Given the description of an element on the screen output the (x, y) to click on. 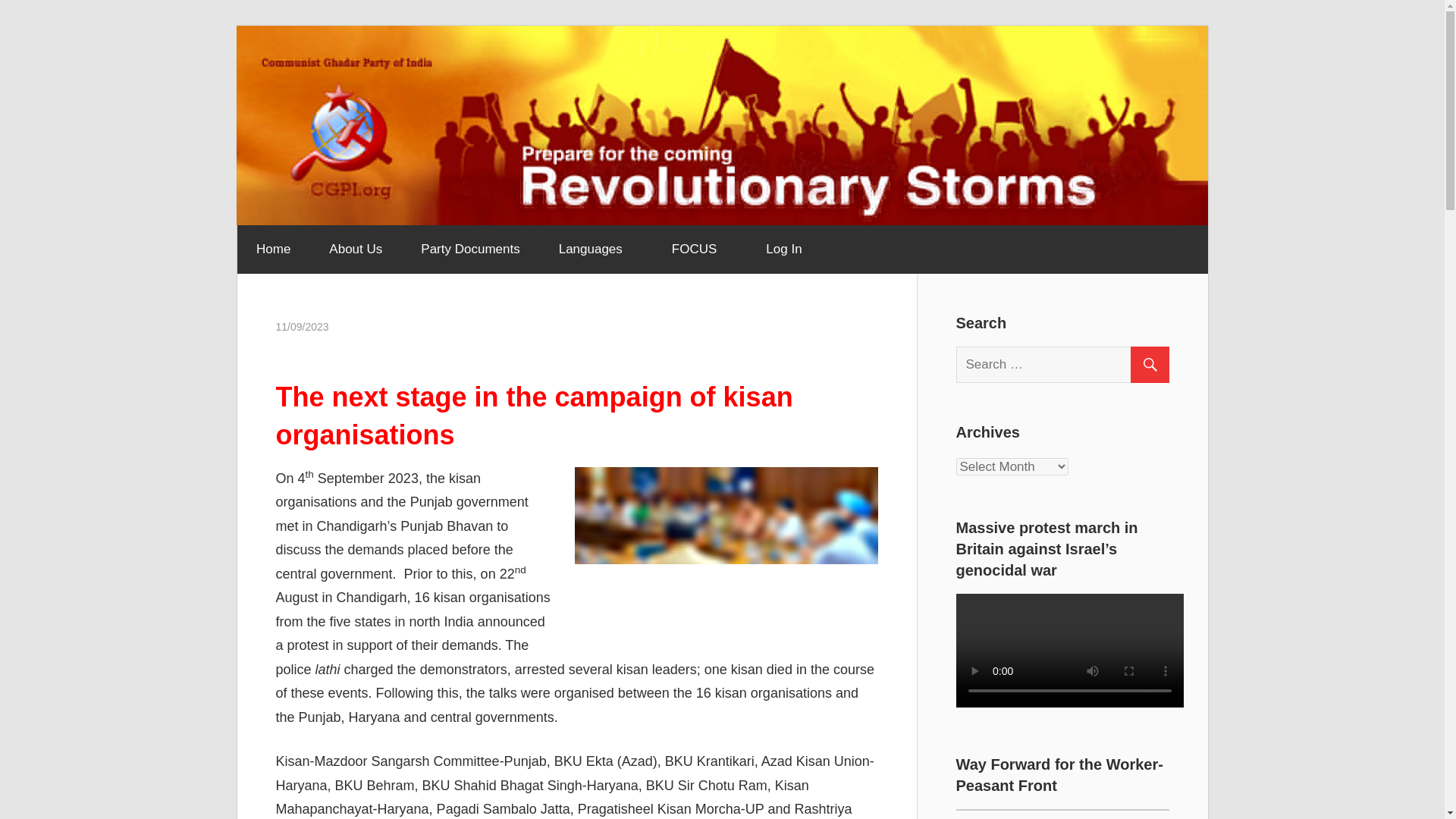
Home (271, 249)
Languages (595, 249)
View all posts by cgpiadmin (353, 326)
Log In (783, 249)
Search for: (1068, 365)
cgpiadmin (353, 326)
About Us (355, 249)
FOCUS (699, 249)
Party Documents (469, 249)
